Given the description of an element on the screen output the (x, y) to click on. 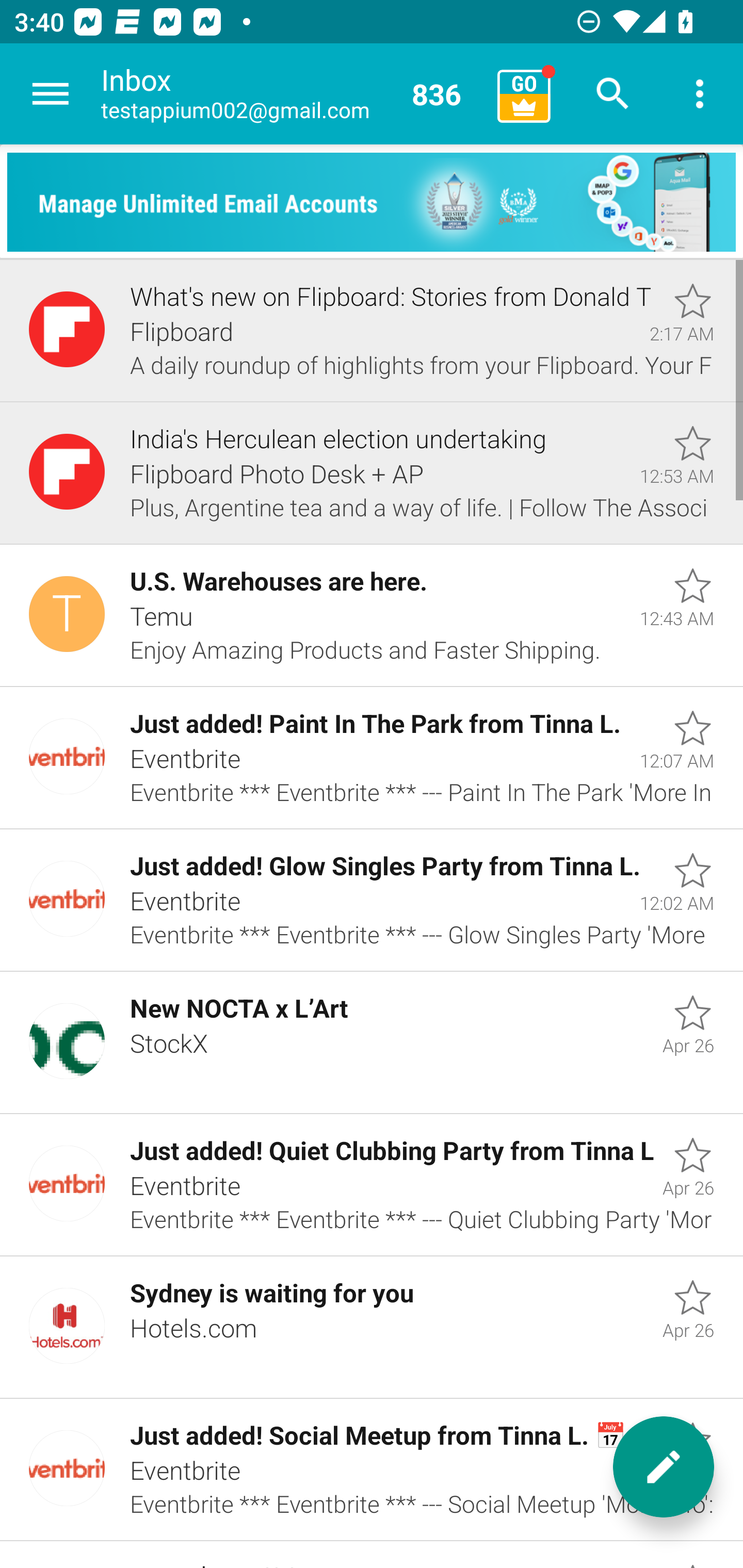
Navigate up (50, 93)
Inbox testappium002@gmail.com 836 (291, 93)
Search (612, 93)
More options (699, 93)
Unread, New NOCTA x L’Art, StockX, Apr 26 (371, 1043)
New message (663, 1466)
